Given the description of an element on the screen output the (x, y) to click on. 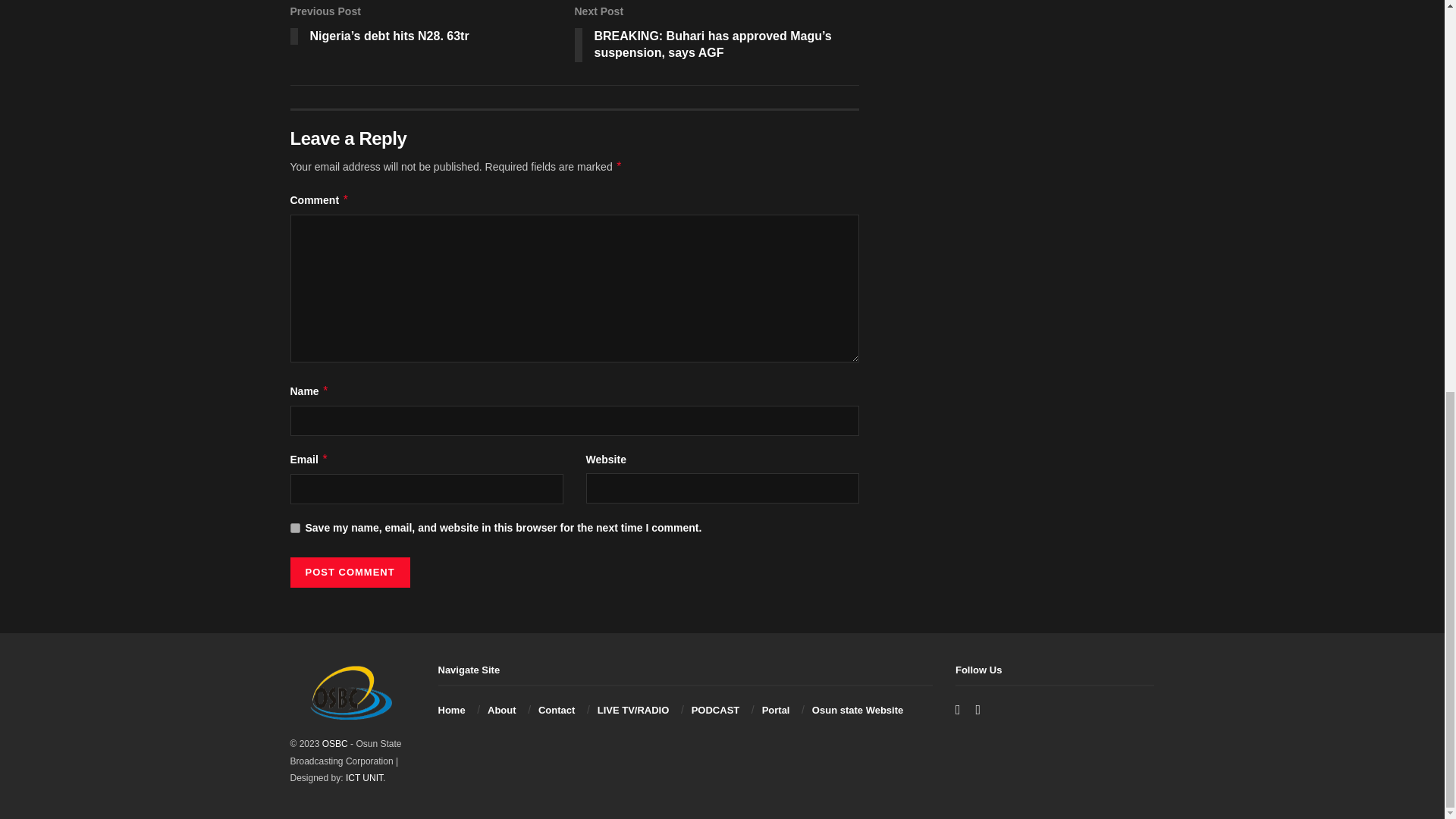
Osun State Broadcasting Corporation (334, 743)
yes (294, 528)
ICT UNIT (364, 777)
Post Comment (349, 572)
